Given the description of an element on the screen output the (x, y) to click on. 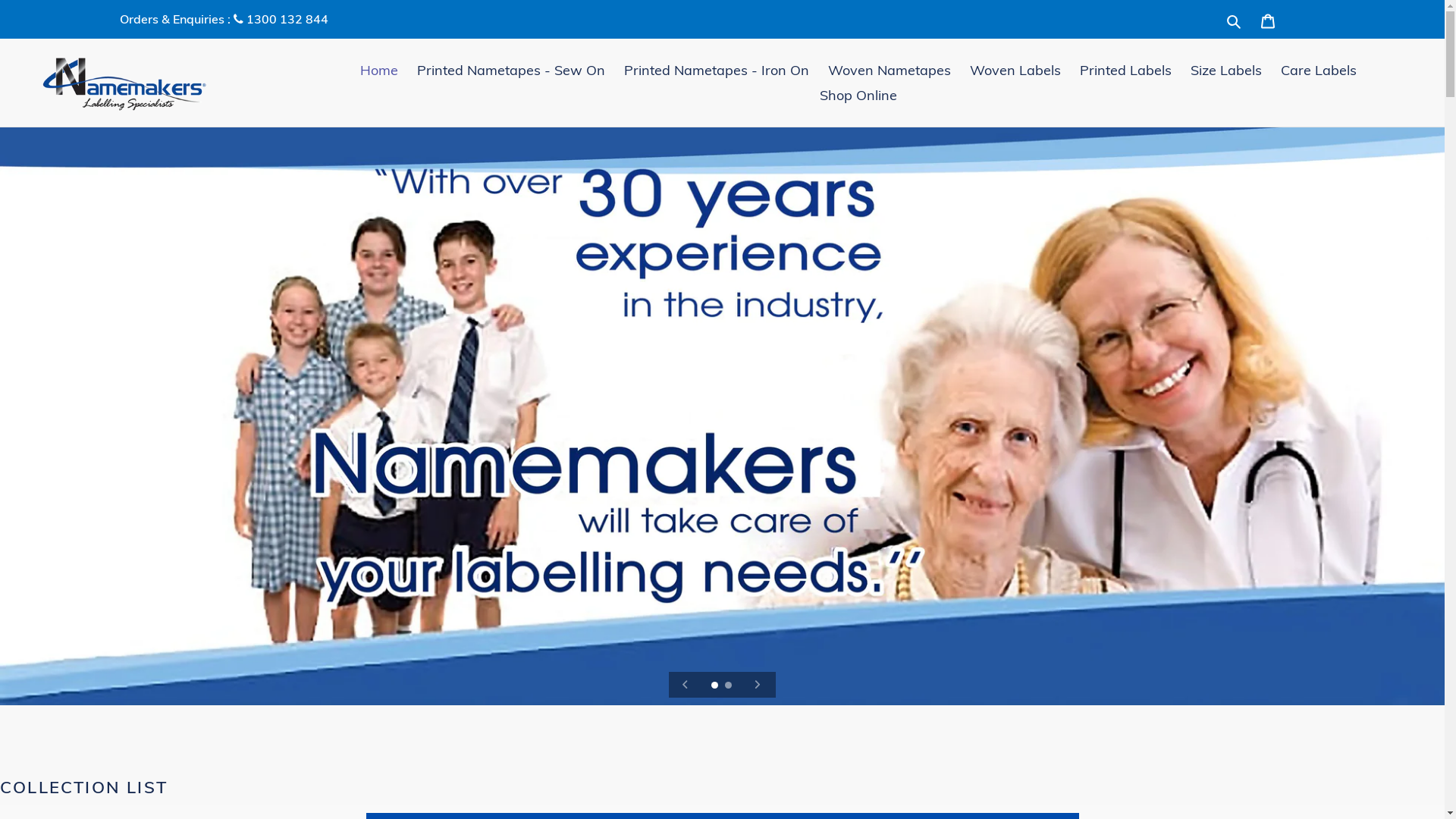
1300 132 844 Element type: text (285, 18)
Printed Nametapes - Iron On Element type: text (716, 69)
Shop Online Element type: text (858, 94)
Size Labels Element type: text (1226, 69)
Printed Labels Element type: text (1125, 69)
Home Element type: text (378, 69)
Search Element type: text (1234, 20)
Woven Labels Element type: text (1015, 69)
Woven Nametapes Element type: text (889, 69)
Care Labels Element type: text (1318, 69)
Printed Nametapes - Sew On Element type: text (510, 69)
Cart Element type: text (1267, 19)
